Given the description of an element on the screen output the (x, y) to click on. 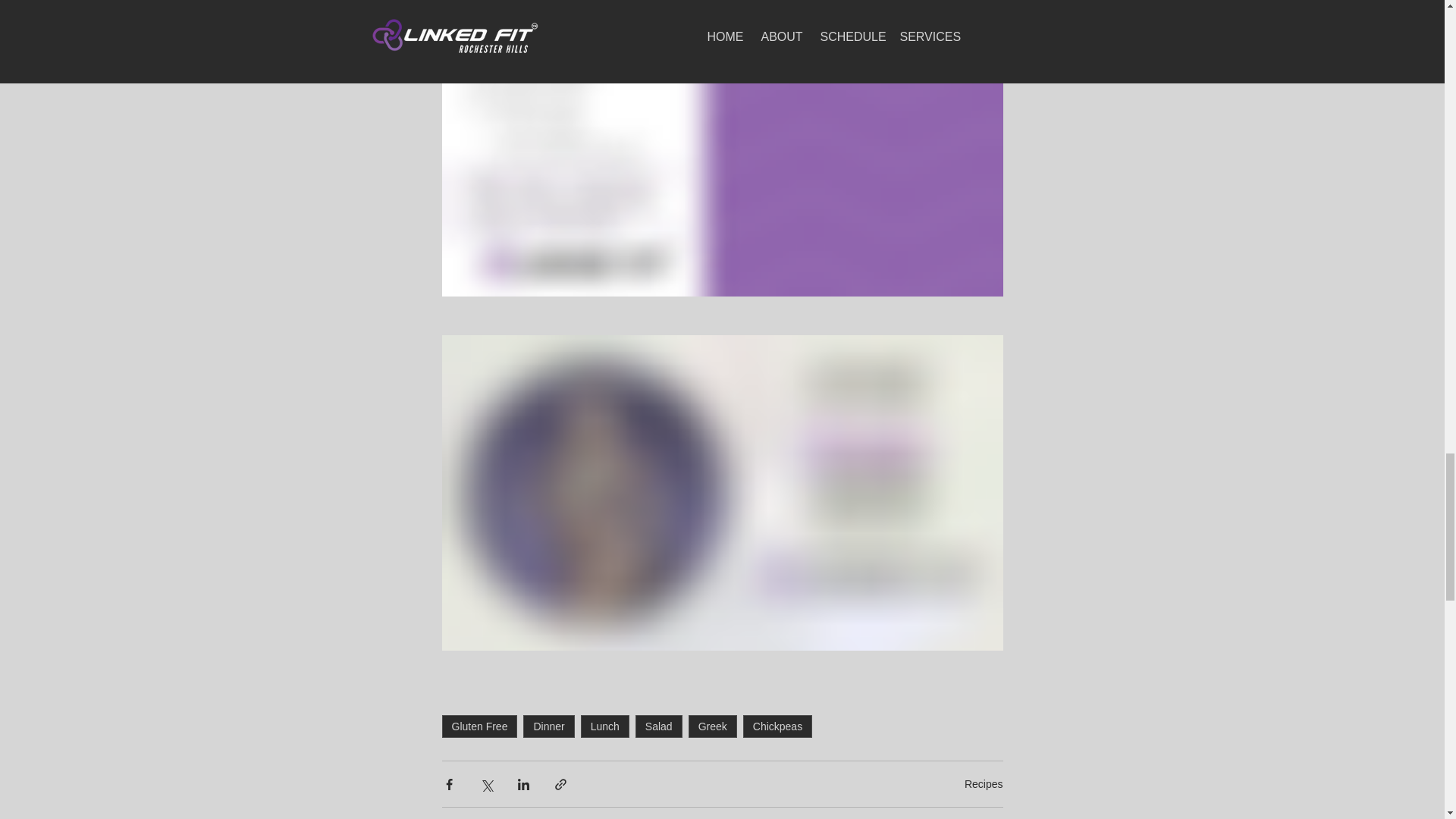
Chickpeas (777, 725)
Salad (658, 725)
Recipes (983, 784)
Dinner (547, 725)
Gluten Free (478, 725)
Greek (712, 725)
Lunch (604, 725)
